Given the description of an element on the screen output the (x, y) to click on. 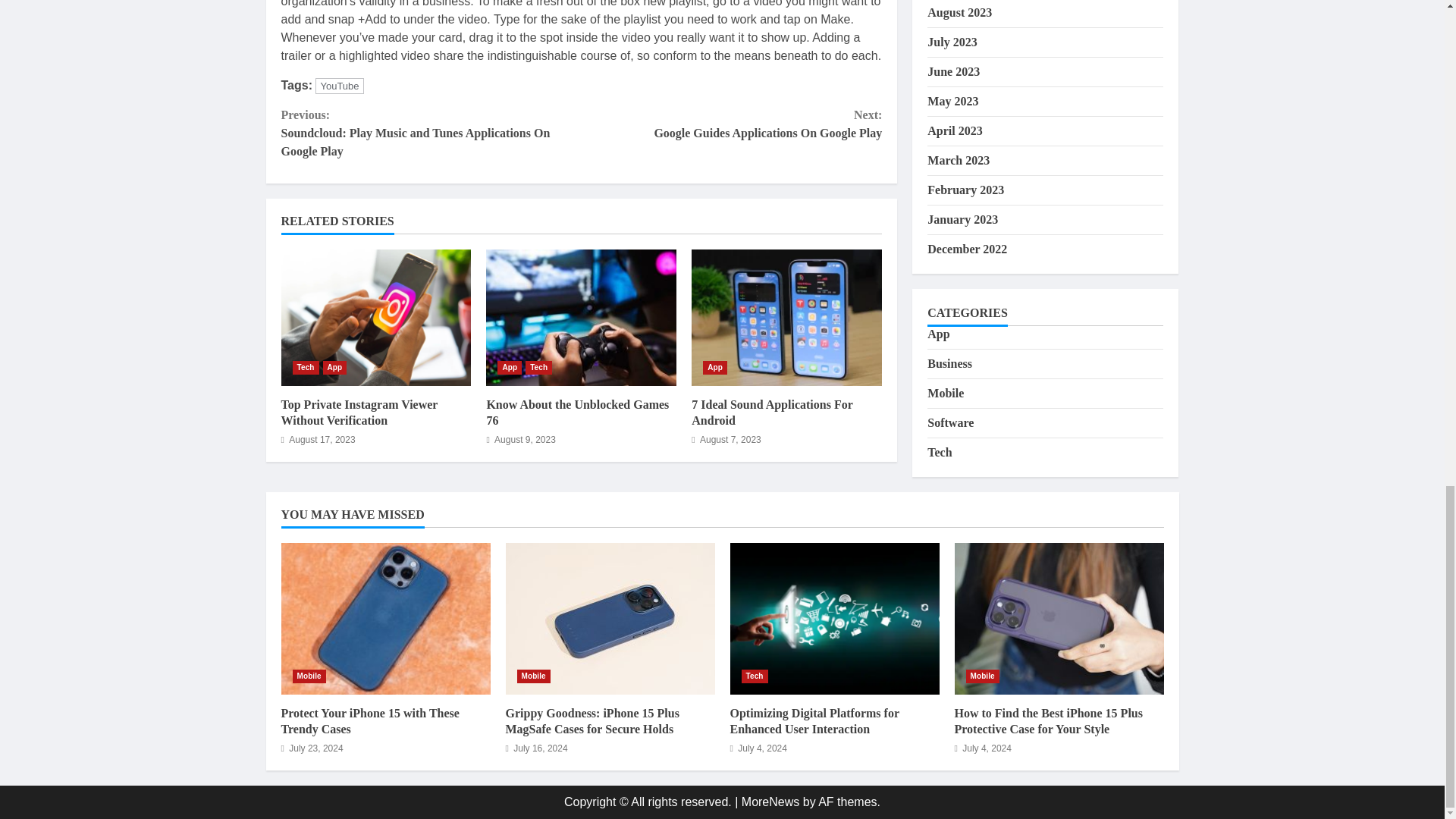
7 Ideal Sound Applications For Android (771, 412)
App (509, 367)
Top Private Instagram Viewer Without Verification (731, 124)
Know About the Unblocked Games 76 (359, 412)
YouTube (581, 317)
Know About the Unblocked Games 76 (338, 85)
Top Private Instagram Viewer Without Verification (577, 412)
App (375, 317)
7 Ideal Sound Applications For Android (335, 367)
Tech (786, 317)
App (305, 367)
Tech (714, 367)
